Given the description of an element on the screen output the (x, y) to click on. 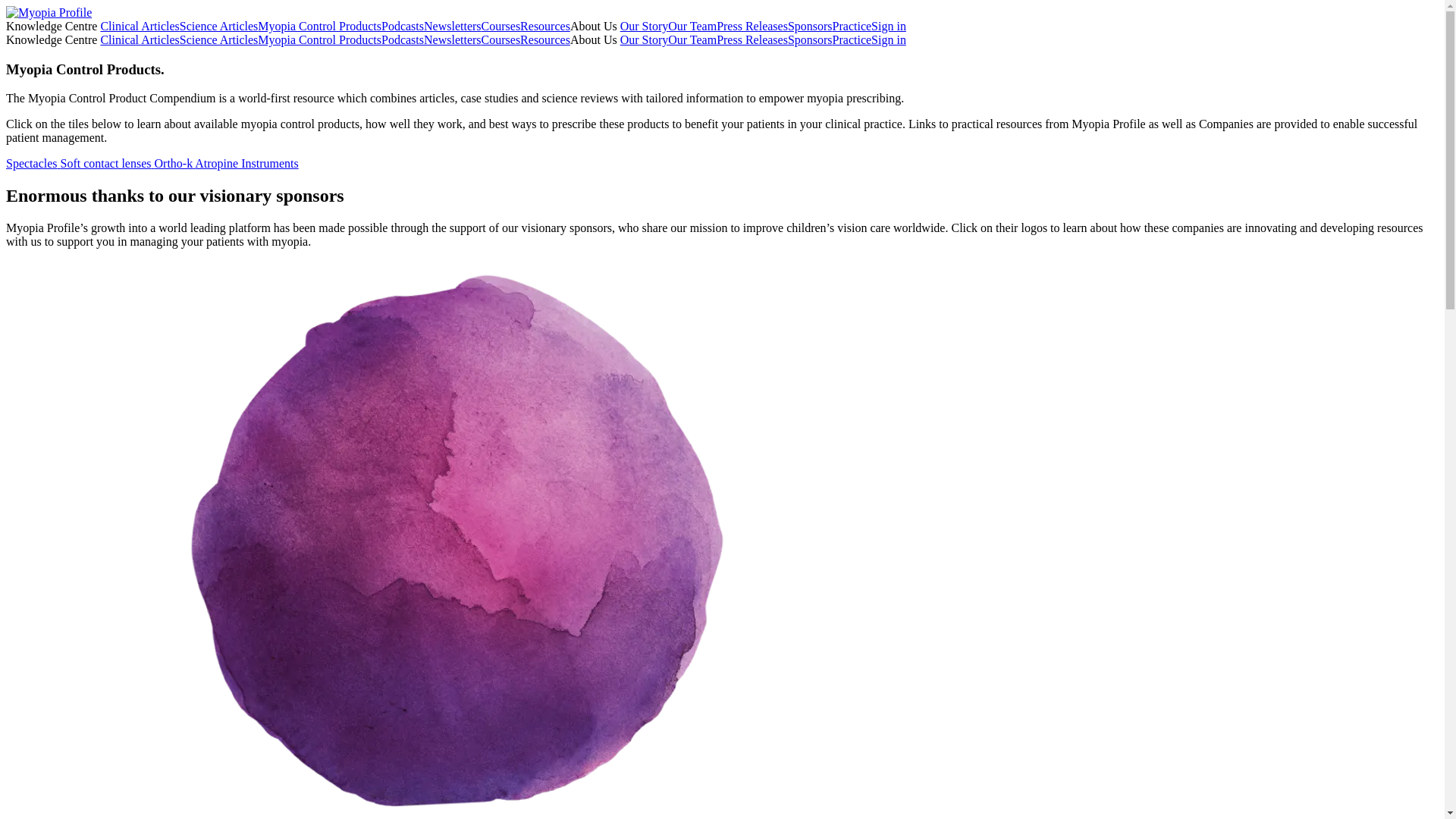
Practice (852, 39)
Sponsors (809, 39)
Our Team (692, 39)
Science Articles (219, 25)
Press Releases (751, 39)
Podcasts (402, 25)
Our Team (692, 25)
Sign in (887, 39)
Spectacles (31, 163)
Sign in (887, 25)
Our Story (644, 39)
Newsletters (452, 39)
Resources (544, 39)
Our Story (644, 25)
Press Releases (751, 25)
